Given the description of an element on the screen output the (x, y) to click on. 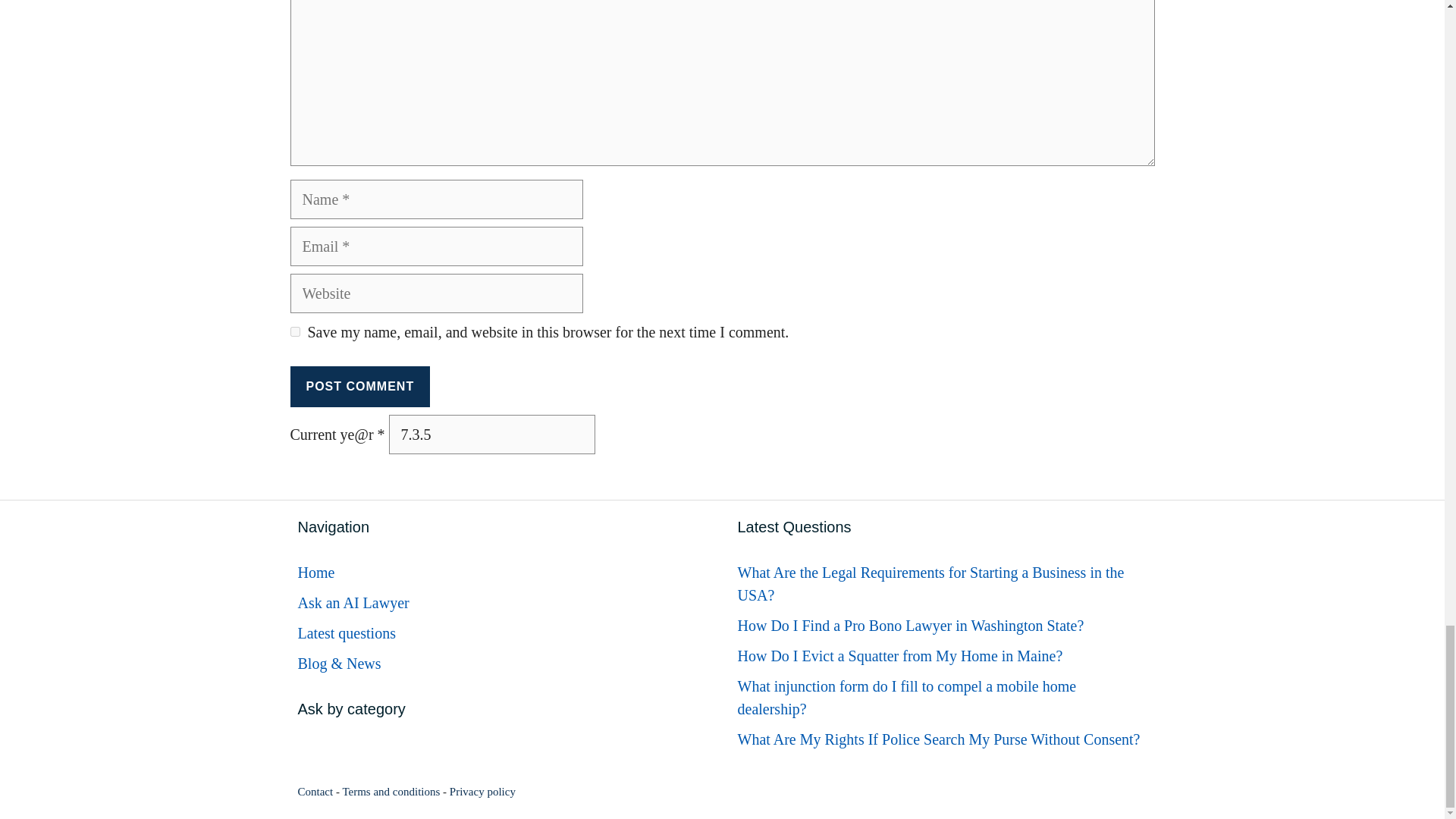
Ask an AI Lawyer (353, 602)
Home (315, 572)
Post Comment (359, 386)
Latest questions (345, 632)
7.3.5 (491, 434)
yes (294, 331)
Post Comment (359, 386)
How Do I Find a Pro Bono Lawyer in Washington State? (909, 625)
